Given the description of an element on the screen output the (x, y) to click on. 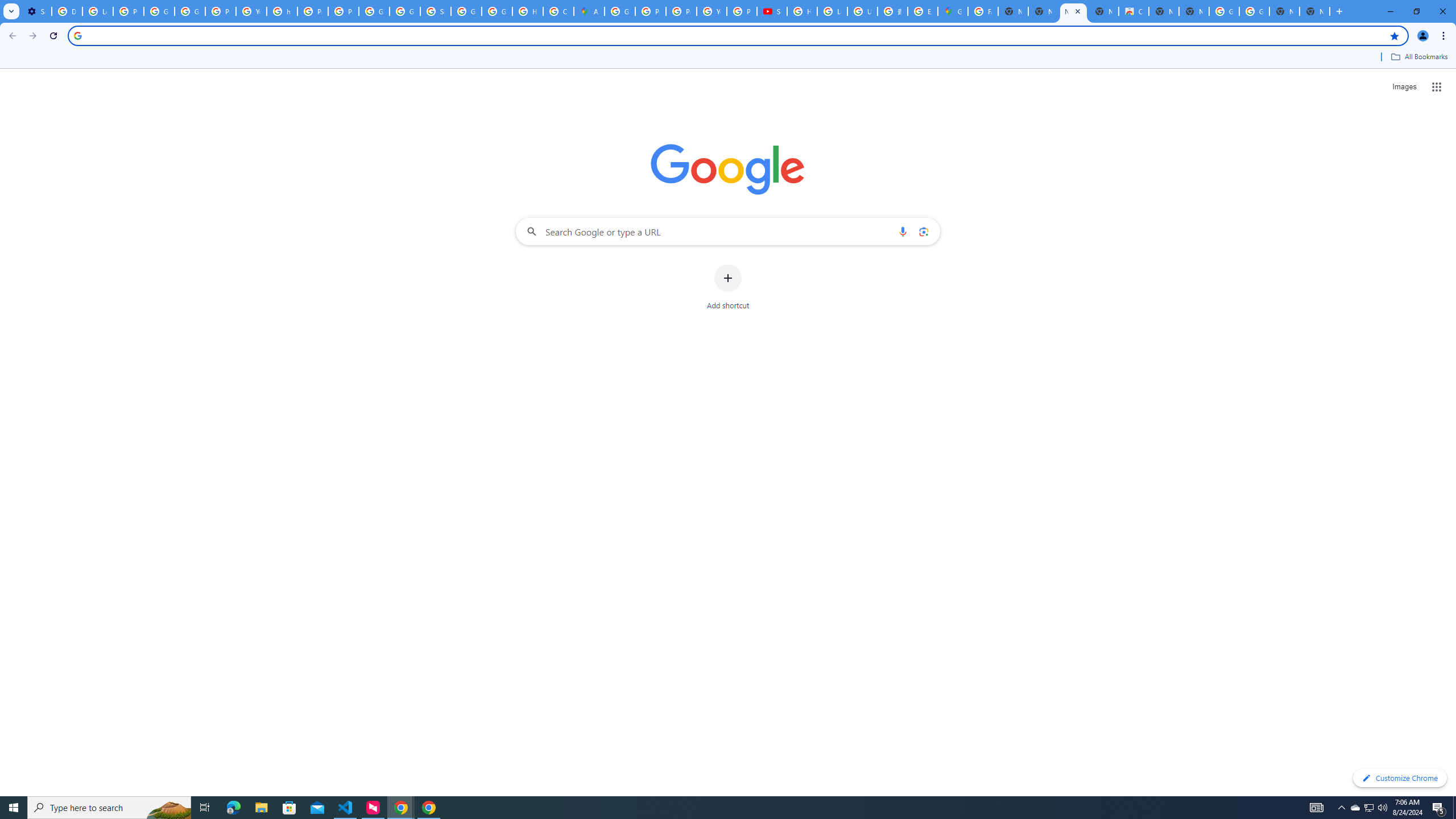
Create your Google Account (558, 11)
Search Google or type a URL (727, 230)
Delete photos & videos - Computer - Google Photos Help (66, 11)
Add shortcut (727, 287)
Privacy Help Center - Policies Help (312, 11)
